Given the description of an element on the screen output the (x, y) to click on. 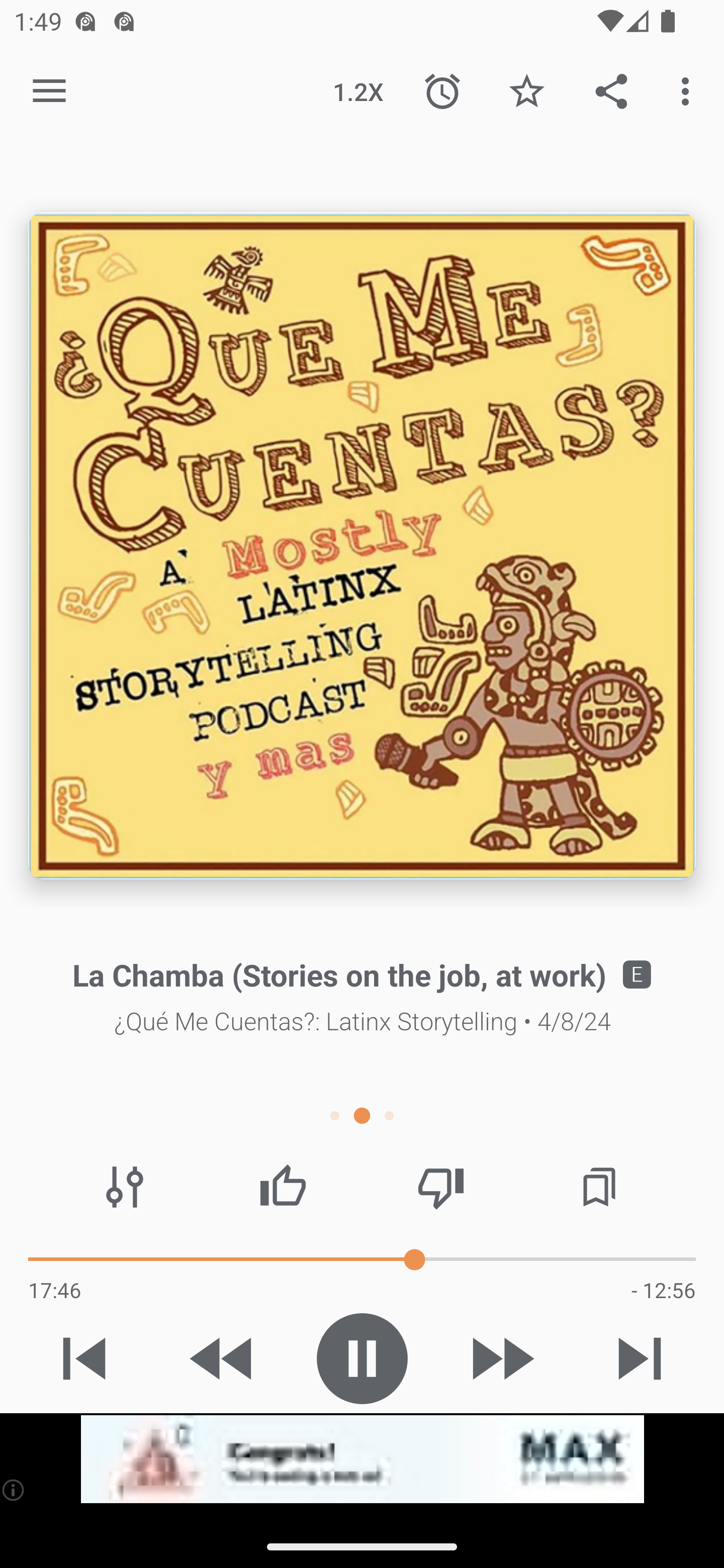
Open navigation sidebar (49, 91)
1.2X (357, 90)
Sleep Timer (442, 90)
Favorite (526, 90)
Share (611, 90)
More options (688, 90)
Episode description (361, 545)
Audio effects (124, 1186)
Thumbs up (283, 1186)
Thumbs down (440, 1186)
Chapters / Bookmarks (598, 1186)
- 12:56 (663, 1289)
Previous track (84, 1358)
Skip 15s backward (222, 1358)
Play / Pause (362, 1358)
Skip 30s forward (500, 1358)
Next track (639, 1358)
app-monetization (362, 1459)
(i) (14, 1489)
